Given the description of an element on the screen output the (x, y) to click on. 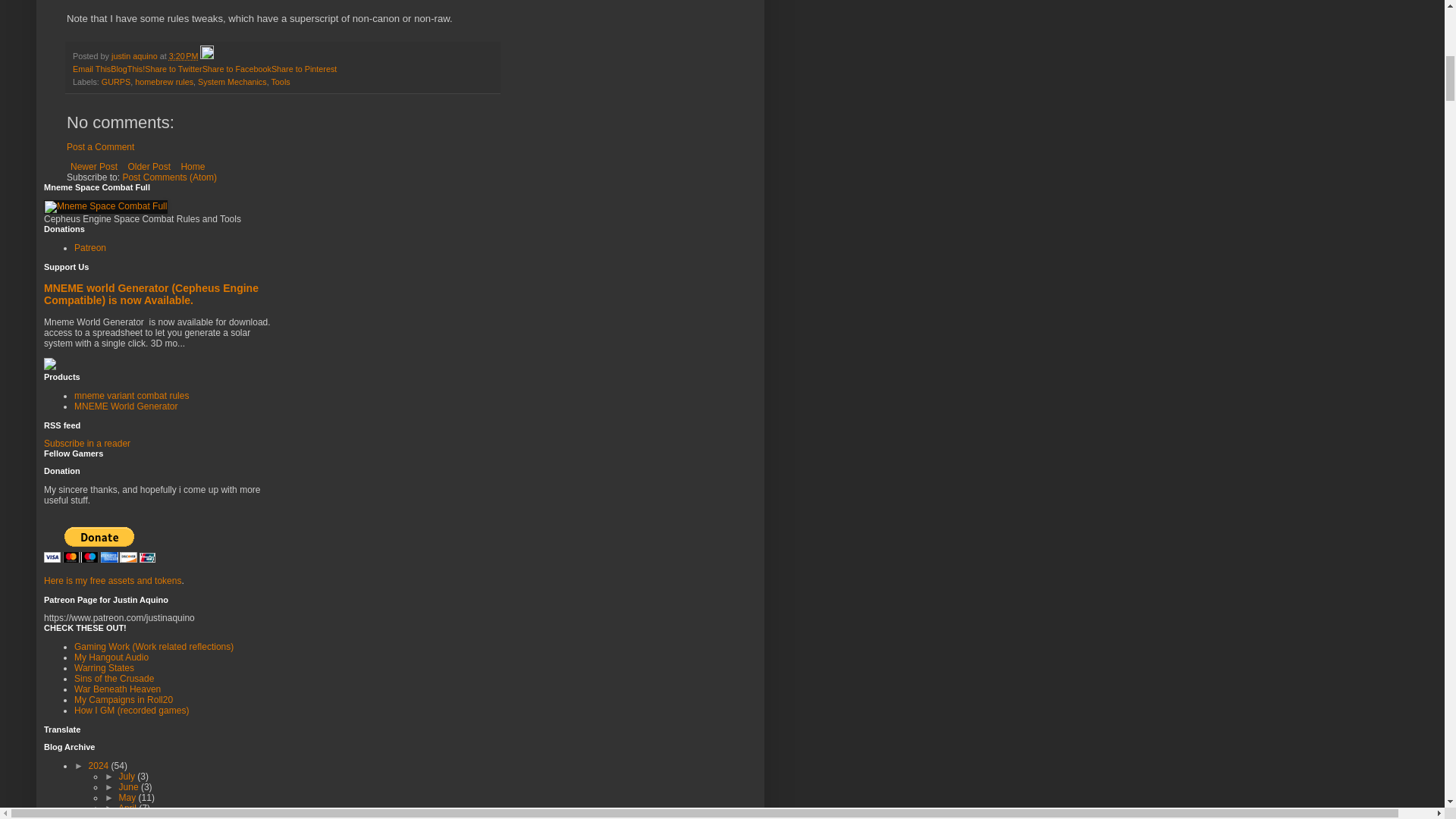
Share to Pinterest (303, 68)
author profile (136, 55)
System Mechanics (232, 81)
Newer Post (93, 167)
Email This (91, 68)
BlogThis! (127, 68)
Email This (91, 68)
Here is my free assets and tokens (111, 580)
Share to Facebook (236, 68)
homebrew rules (164, 81)
Home (192, 167)
justin aquino (136, 55)
Subscribe in a reader (87, 443)
Share to Twitter (173, 68)
Older Post (148, 167)
